Given the description of an element on the screen output the (x, y) to click on. 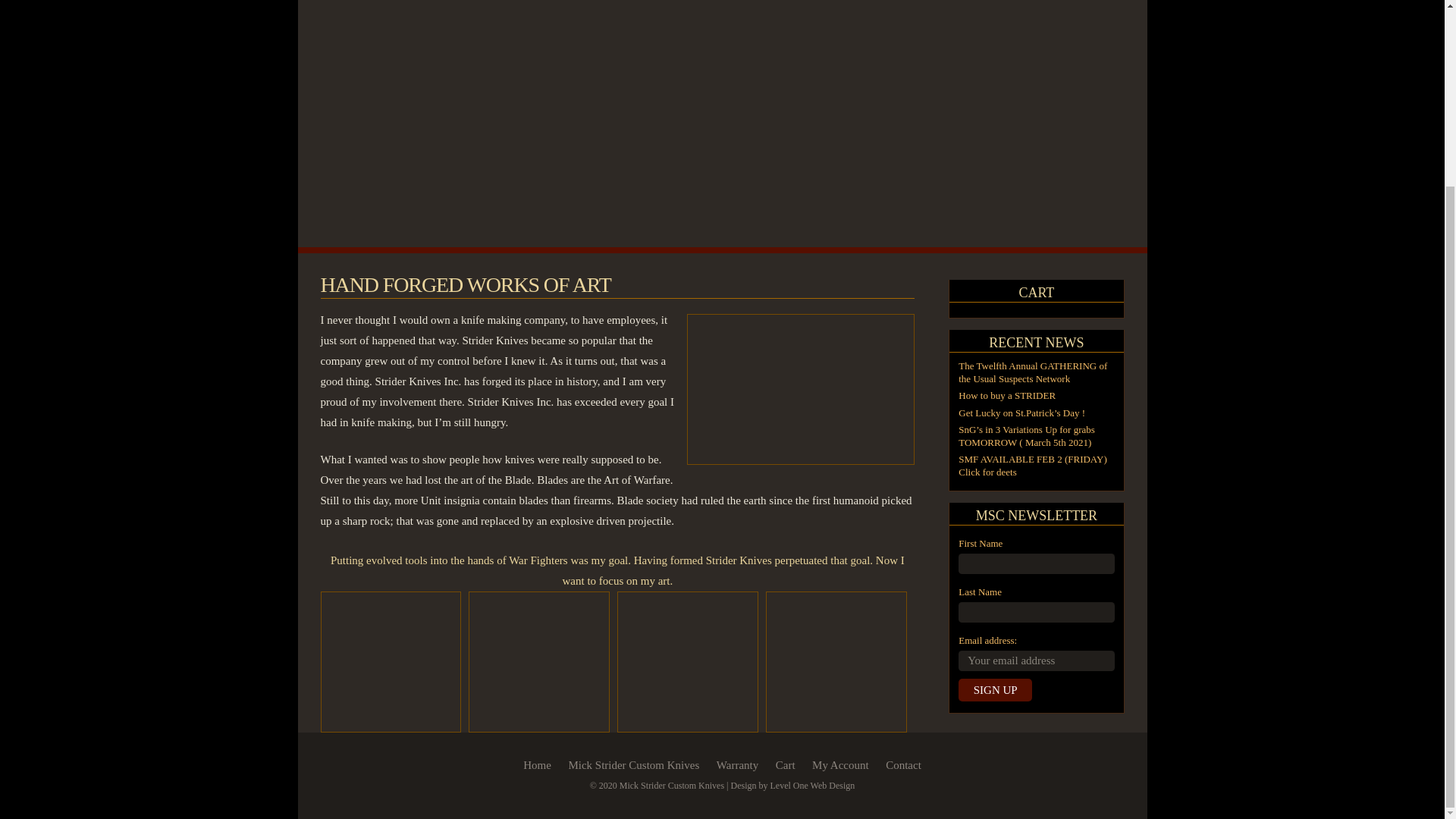
How to buy a STRIDER (1006, 395)
Design by Level One Web Design (793, 785)
Sign up (995, 689)
The Twelfth Annual GATHERING of the Usual Suspects Network (1032, 372)
Sign up (995, 689)
Home (536, 765)
Contact (903, 765)
Warranty (737, 765)
My Account (840, 765)
Mick Strider Custom Knives (632, 765)
